Given the description of an element on the screen output the (x, y) to click on. 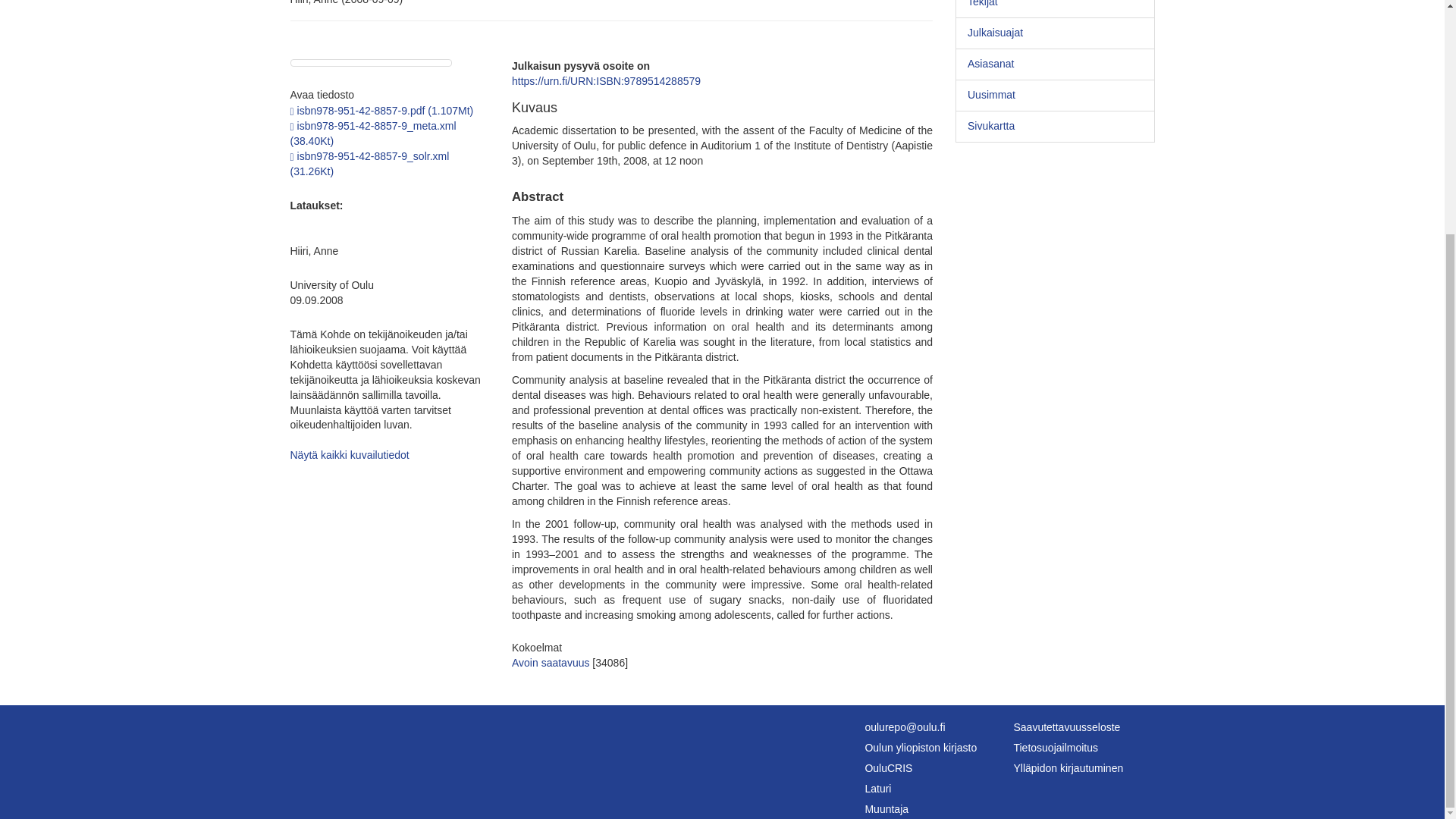
Asiasanat (1054, 64)
Julkaisuajat (1054, 33)
Uusimmat (1054, 95)
Avoin saatavuus (550, 662)
